Given the description of an element on the screen output the (x, y) to click on. 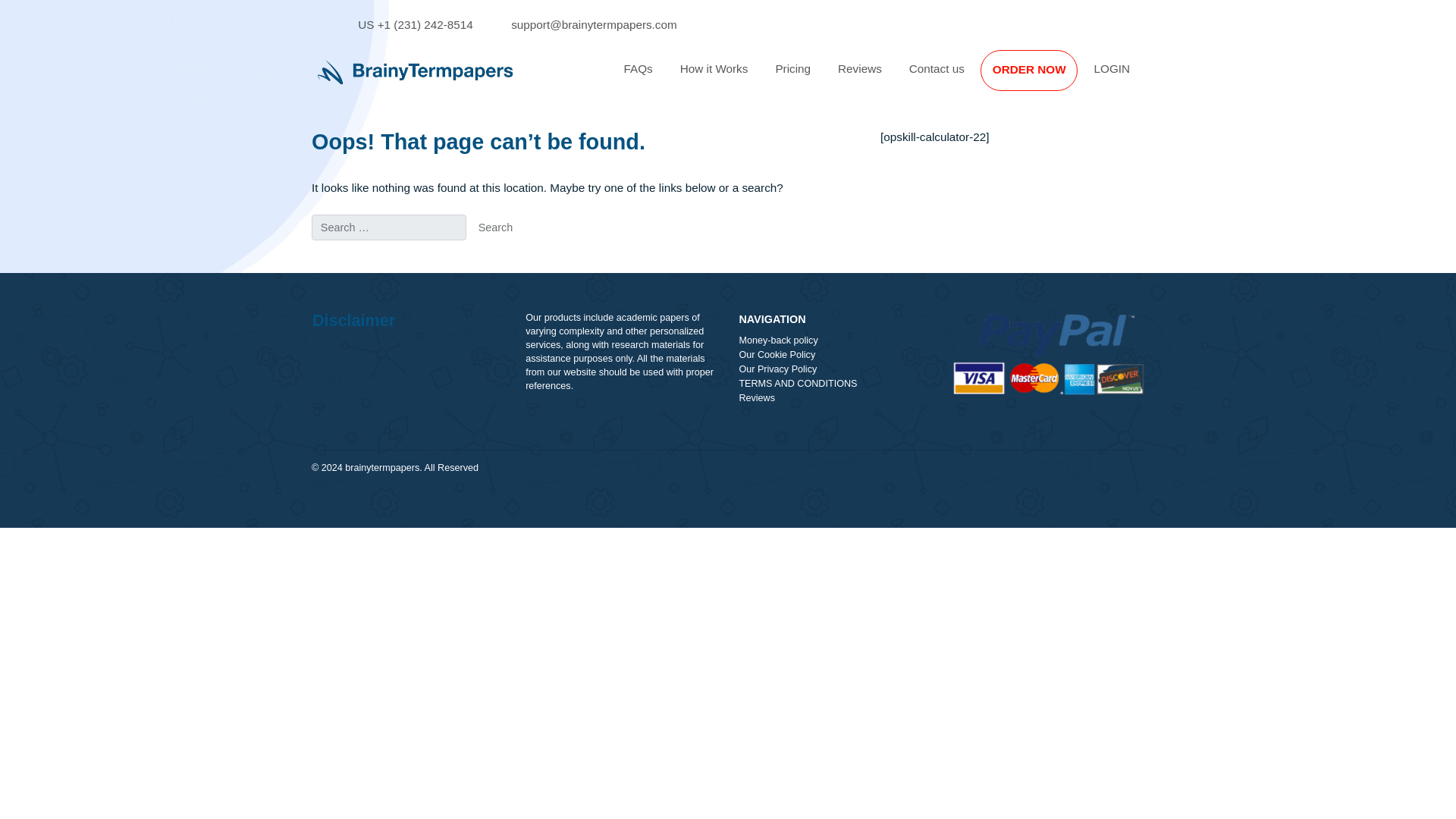
FAQs (708, 76)
brainytermpapers (424, 520)
Search (550, 253)
Search (550, 253)
Pricing (880, 76)
How it Works (792, 76)
ORDER NOW (1142, 77)
Reviews (928, 442)
Contact us (1040, 76)
How it Works (792, 76)
Search for: (432, 252)
FAQs (708, 76)
LOGIN (1236, 76)
Money-back policy (928, 378)
Search (550, 253)
